Given the description of an element on the screen output the (x, y) to click on. 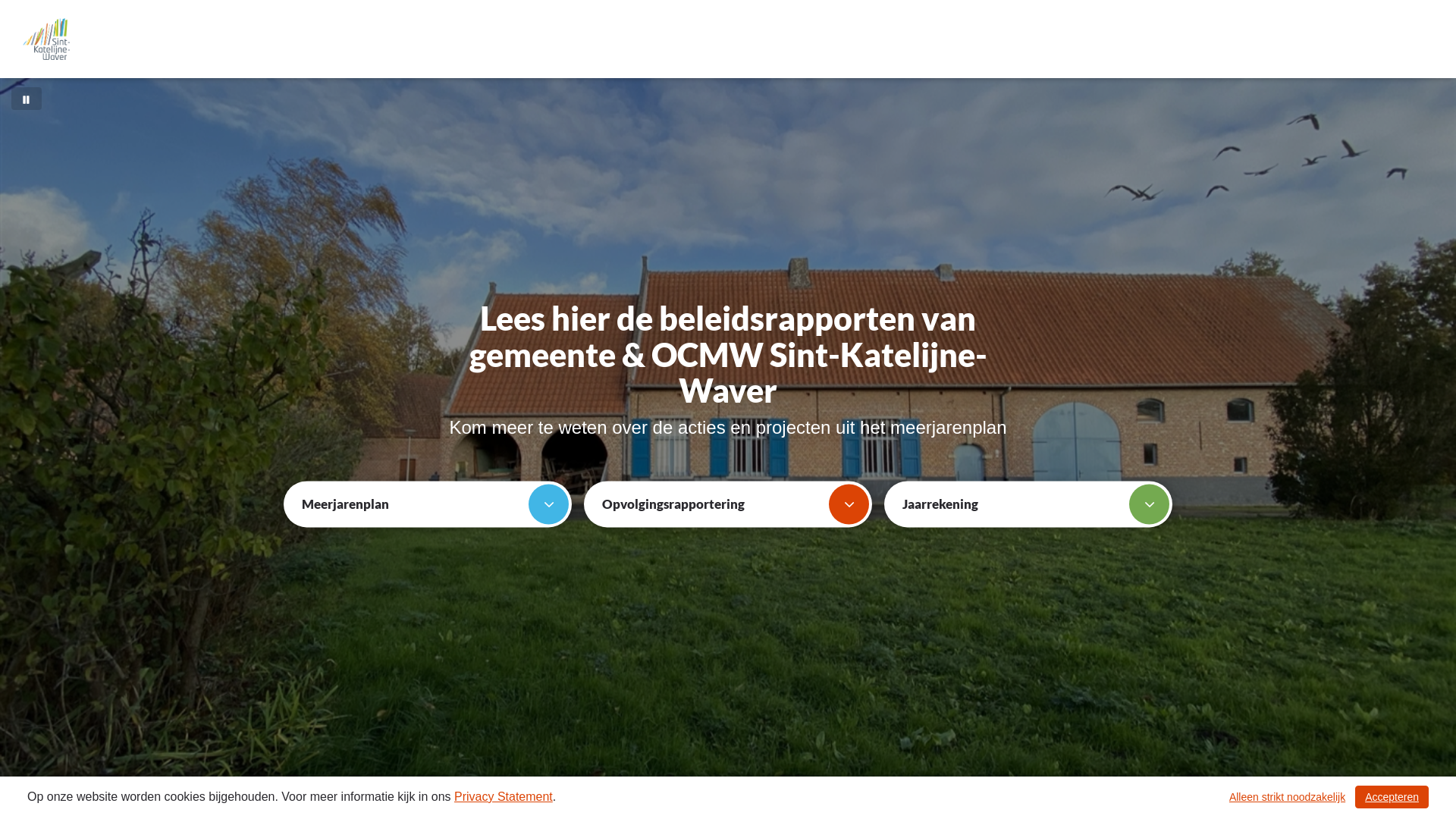
Opvolgingsrapportering Element type: text (727, 504)
Meerjarenplan Element type: text (427, 504)
Privacy Statement Element type: text (503, 796)
Jaarrekening Element type: text (1028, 504)
Accepteren Element type: text (1391, 796)
Alleen strikt noodzakelijk Element type: text (1287, 796)
